Given the description of an element on the screen output the (x, y) to click on. 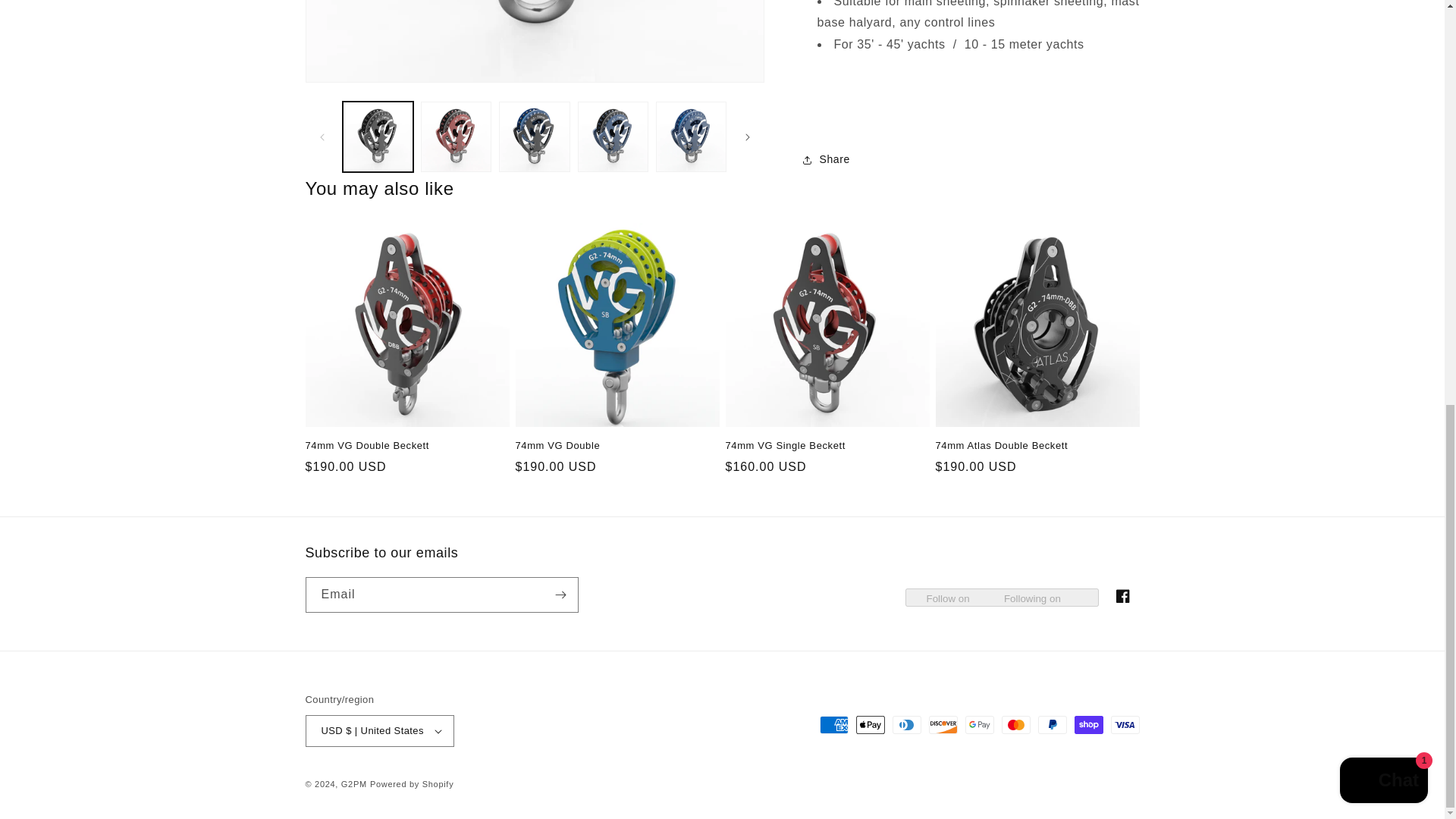
Shopify online store chat (1383, 2)
